Given the description of an element on the screen output the (x, y) to click on. 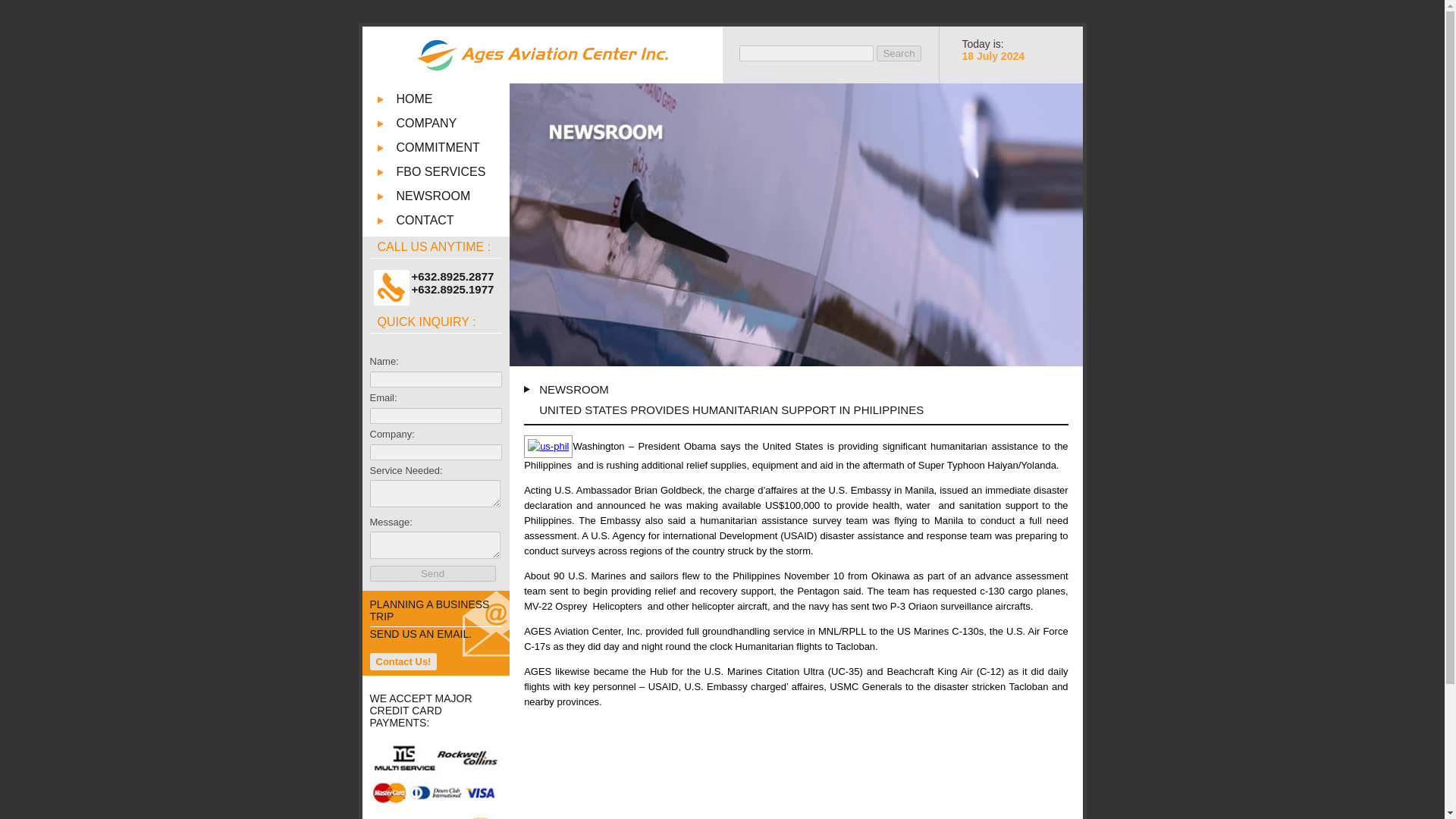
FBO SERVICES (452, 172)
Search (898, 53)
Send (432, 573)
NEWSROOM (452, 196)
Send (432, 573)
COMPANY (452, 123)
CONTACT (452, 220)
COMMITMENT (452, 147)
Contact Us! (403, 661)
Search (898, 53)
HOME (452, 99)
